Given the description of an element on the screen output the (x, y) to click on. 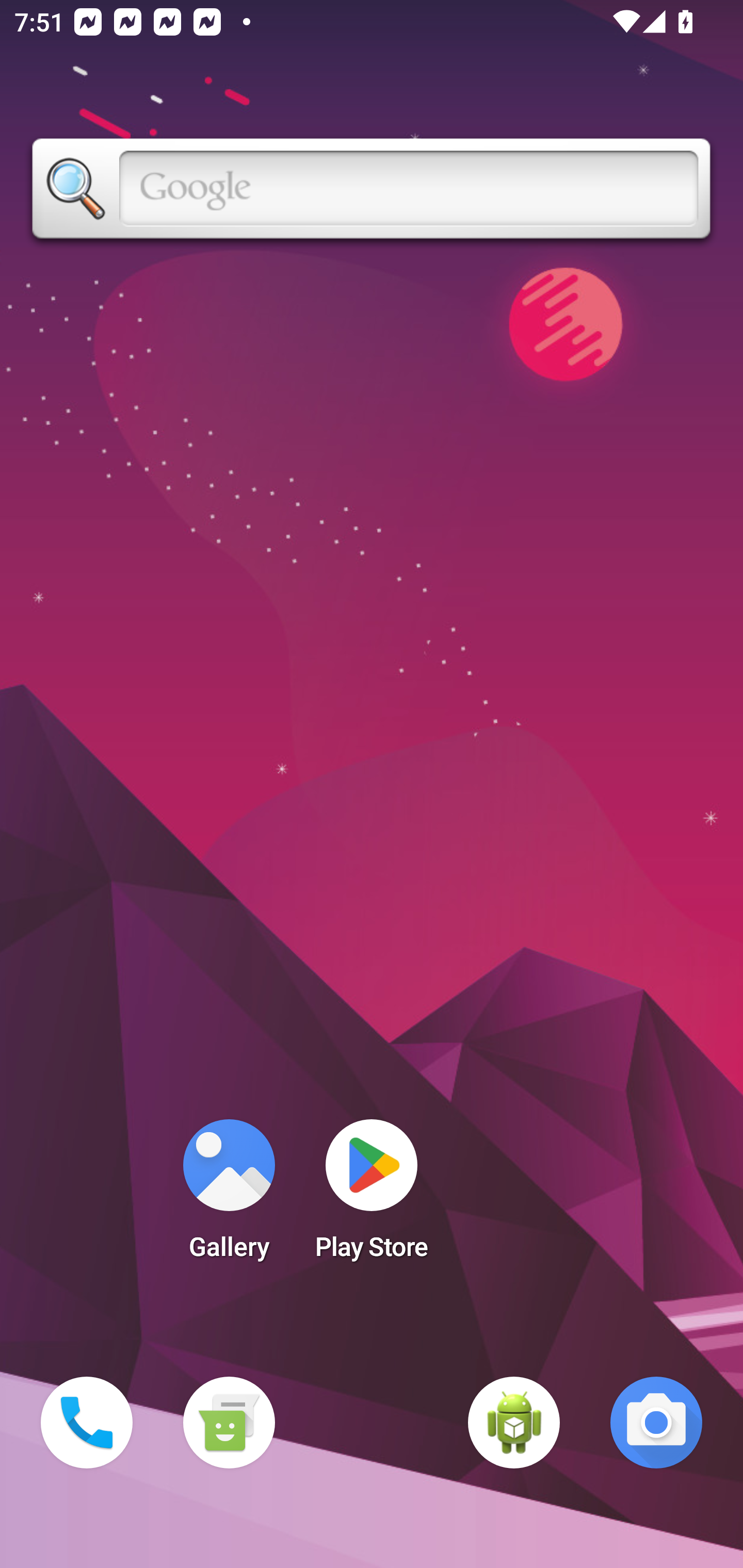
Gallery (228, 1195)
Play Store (371, 1195)
Phone (86, 1422)
Messaging (228, 1422)
WebView Browser Tester (513, 1422)
Camera (656, 1422)
